Given the description of an element on the screen output the (x, y) to click on. 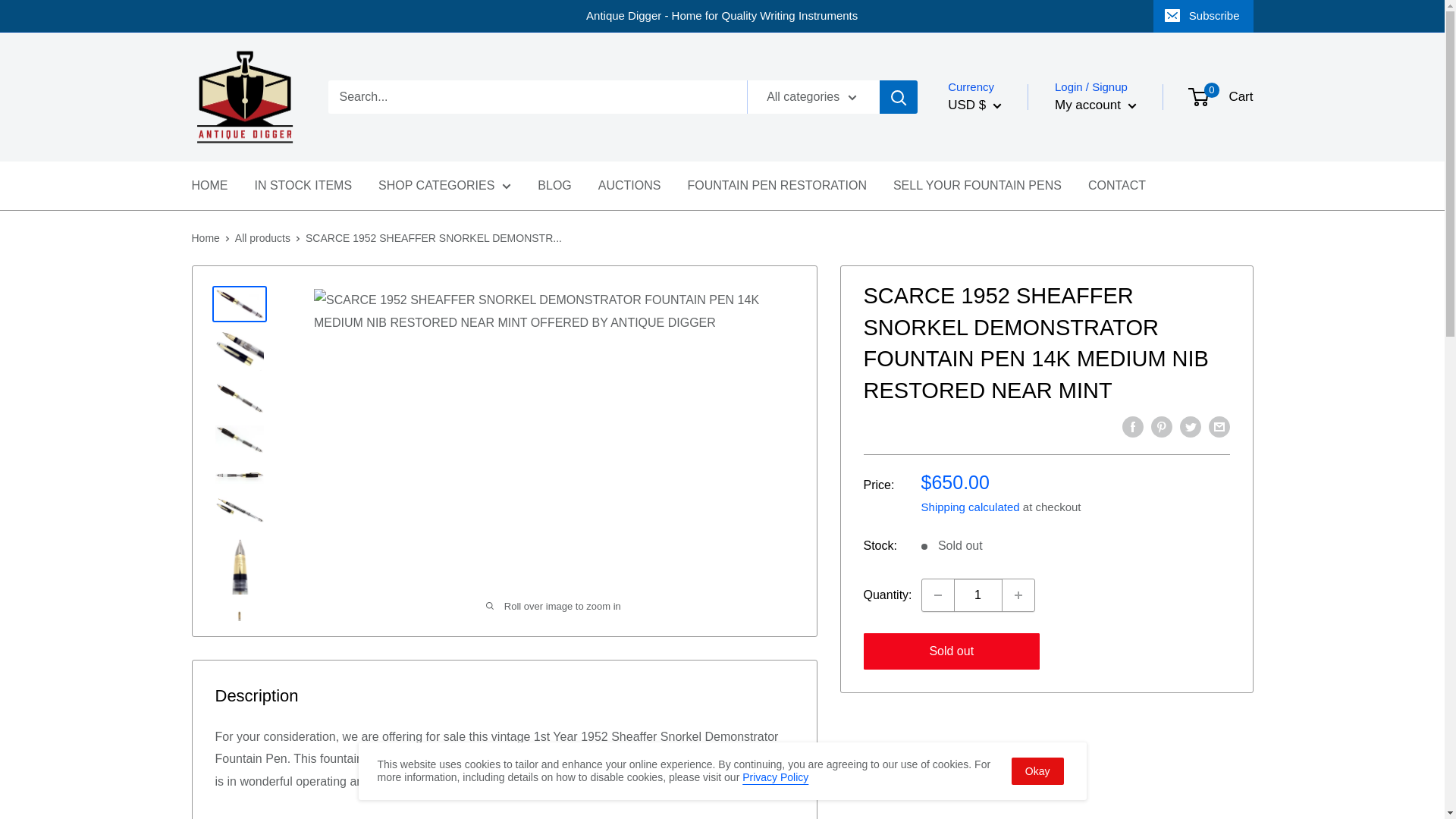
Decrease quantity by 1 (937, 594)
Increase quantity by 1 (1018, 594)
Privacy Policy (775, 776)
1 (978, 594)
Subscribe (1203, 15)
